Given the description of an element on the screen output the (x, y) to click on. 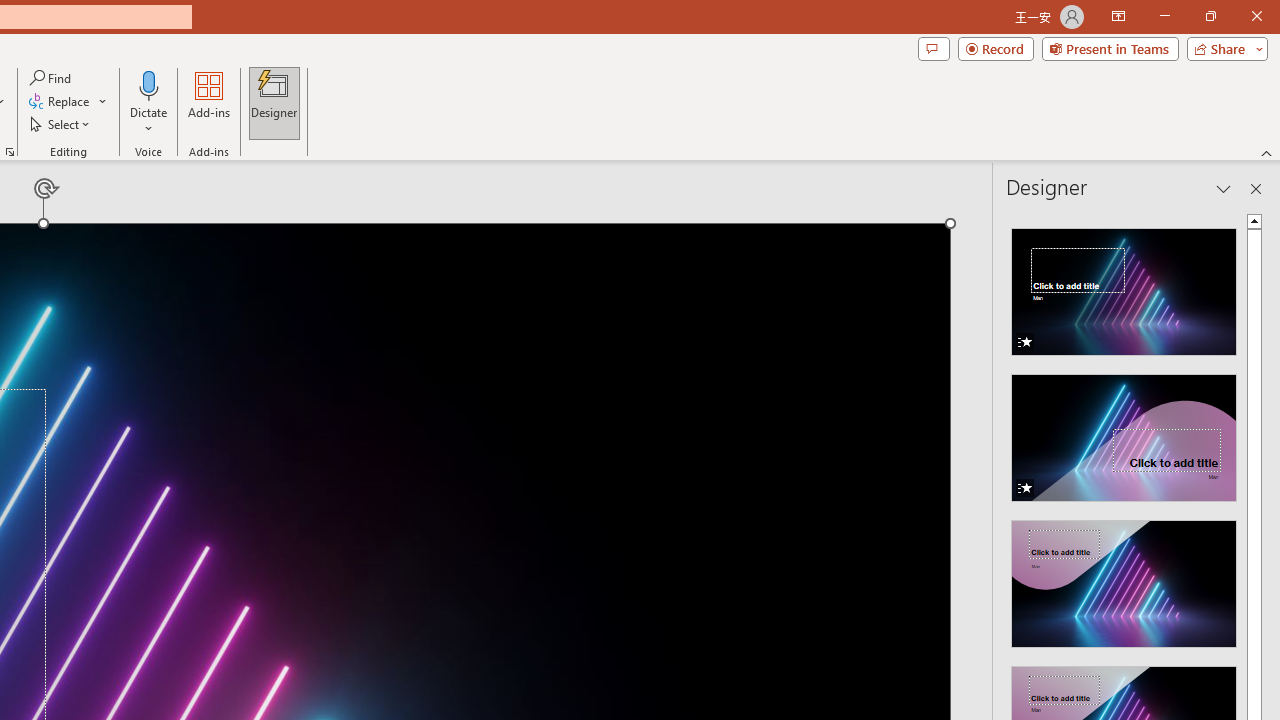
Recommended Design: Animation (1124, 286)
